Given the description of an element on the screen output the (x, y) to click on. 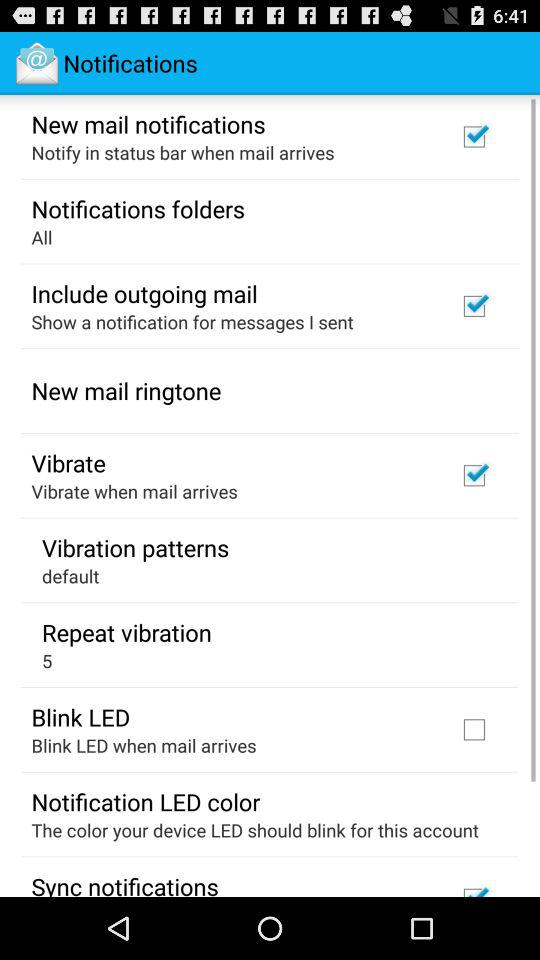
scroll to the sync notifications item (124, 883)
